Given the description of an element on the screen output the (x, y) to click on. 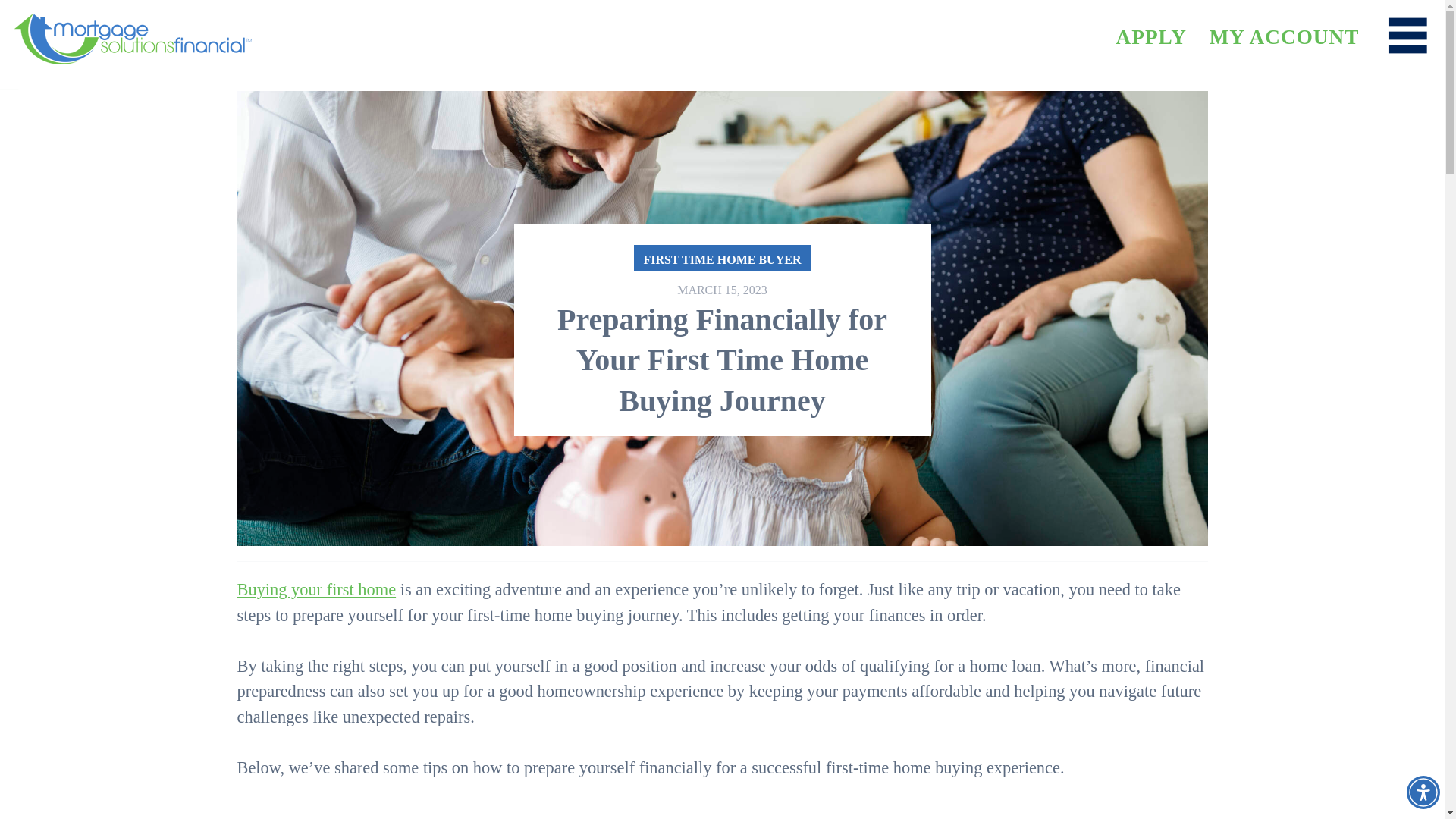
APPLY (1150, 36)
MY ACCOUNT (1284, 36)
Accessibility Menu (1422, 792)
Login to My Account! (1284, 36)
FIRST TIME HOME BUYER (721, 257)
Apply for a Loan Today! Find out how. (1150, 36)
Buying your first home (315, 588)
